Given the description of an element on the screen output the (x, y) to click on. 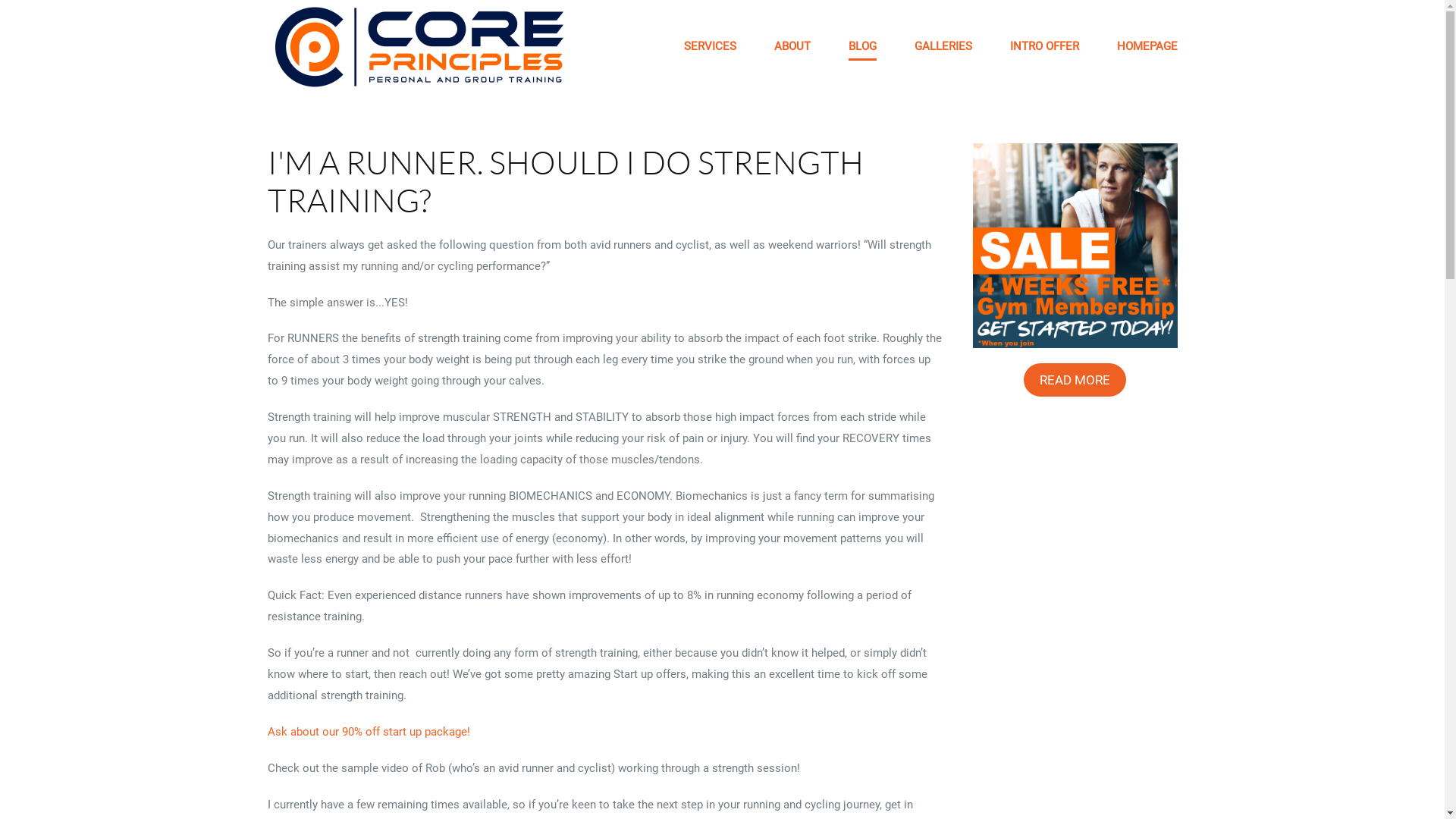
INTRO OFFER Element type: text (1044, 46)
SERVICES Element type: text (710, 46)
ABOUT Element type: text (791, 46)
HOMEPAGE Element type: text (1146, 46)
READ MORE Element type: text (1074, 379)
Ask about our 90% off start up package! Element type: text (367, 731)
GALLERIES Element type: text (943, 46)
BLOG Element type: text (861, 46)
